Given the description of an element on the screen output the (x, y) to click on. 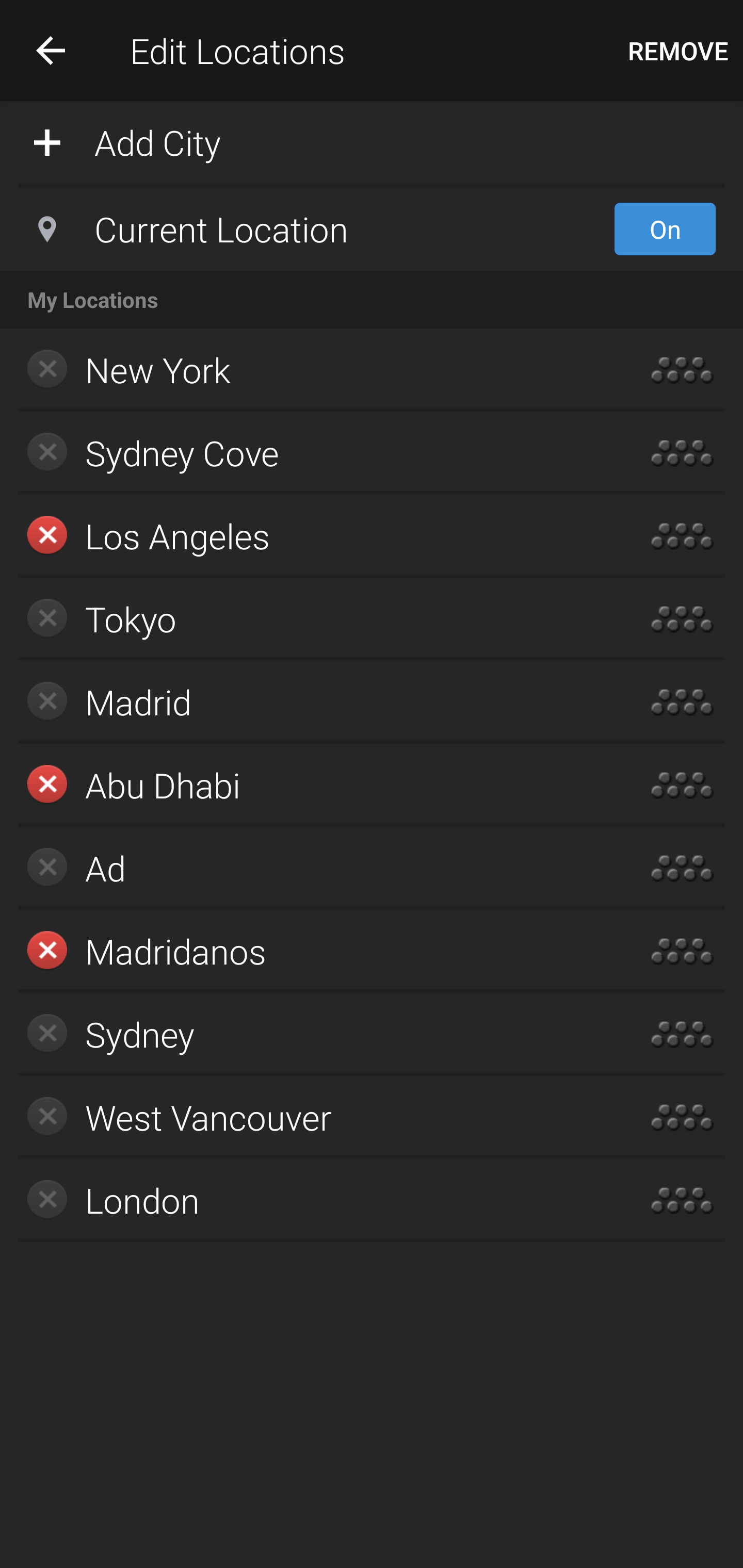
Navigate up (50, 50)
REMOVE (677, 50)
Add City (371, 141)
Current Location: On Current Location On (371, 229)
Delete: New York New York (311, 369)
Delete: Sydney Cove Sydney Cove (311, 452)
Delete: Los Angeles: Selected Los Angeles (311, 535)
Delete: Tokyo Tokyo (311, 618)
Delete: Madrid Madrid (311, 701)
Delete: Abu Dhabi: Selected Abu Dhabi (311, 784)
Delete: Ad Ad (311, 867)
Delete: Madridanos: Selected Madridanos (311, 950)
Delete: Sydney Sydney (311, 1033)
Delete: West Vancouver West Vancouver (311, 1116)
Delete: London London (311, 1200)
